Given the description of an element on the screen output the (x, y) to click on. 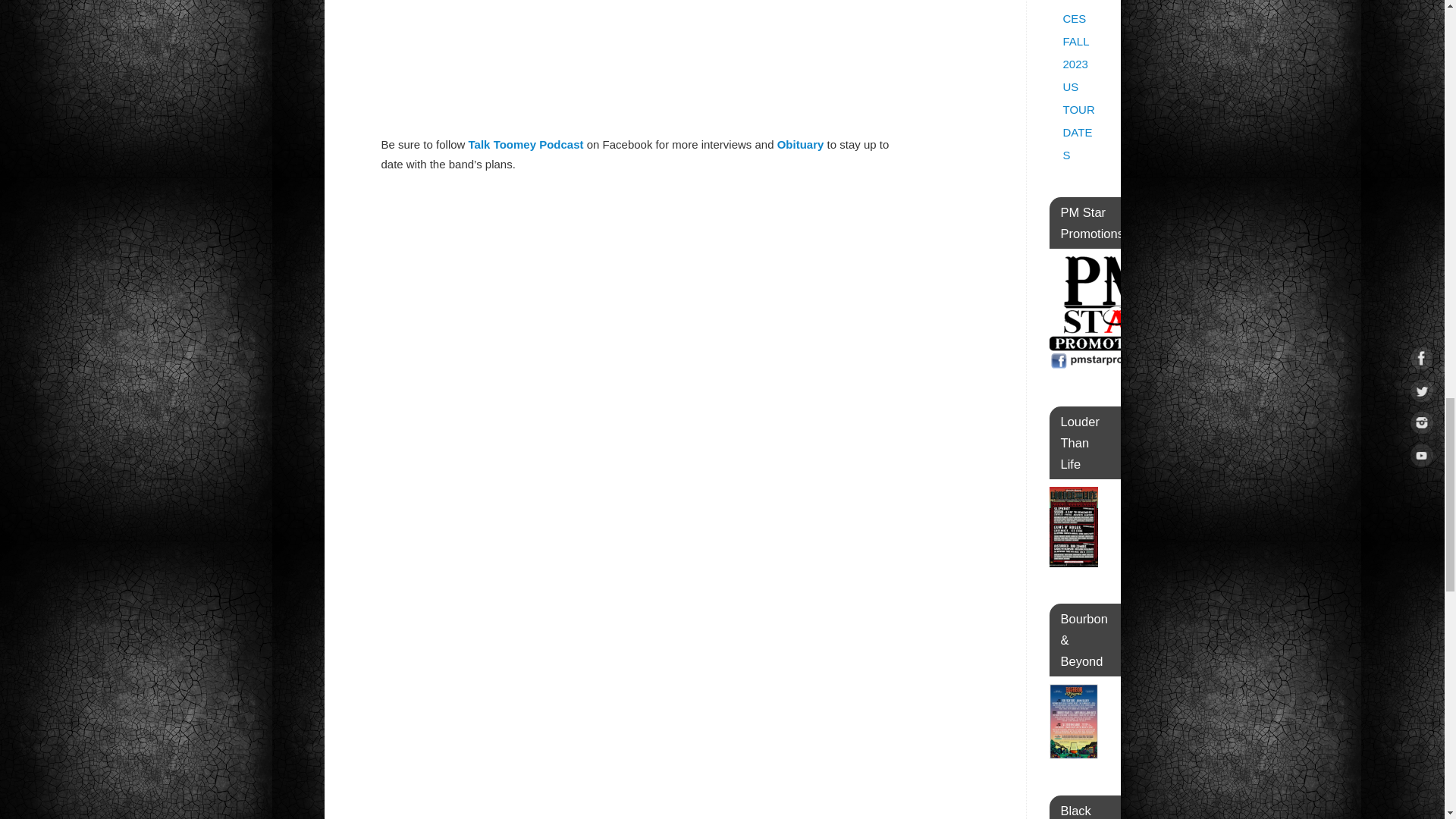
Talk Toomey Podcast (525, 144)
Obituary (800, 144)
